Given the description of an element on the screen output the (x, y) to click on. 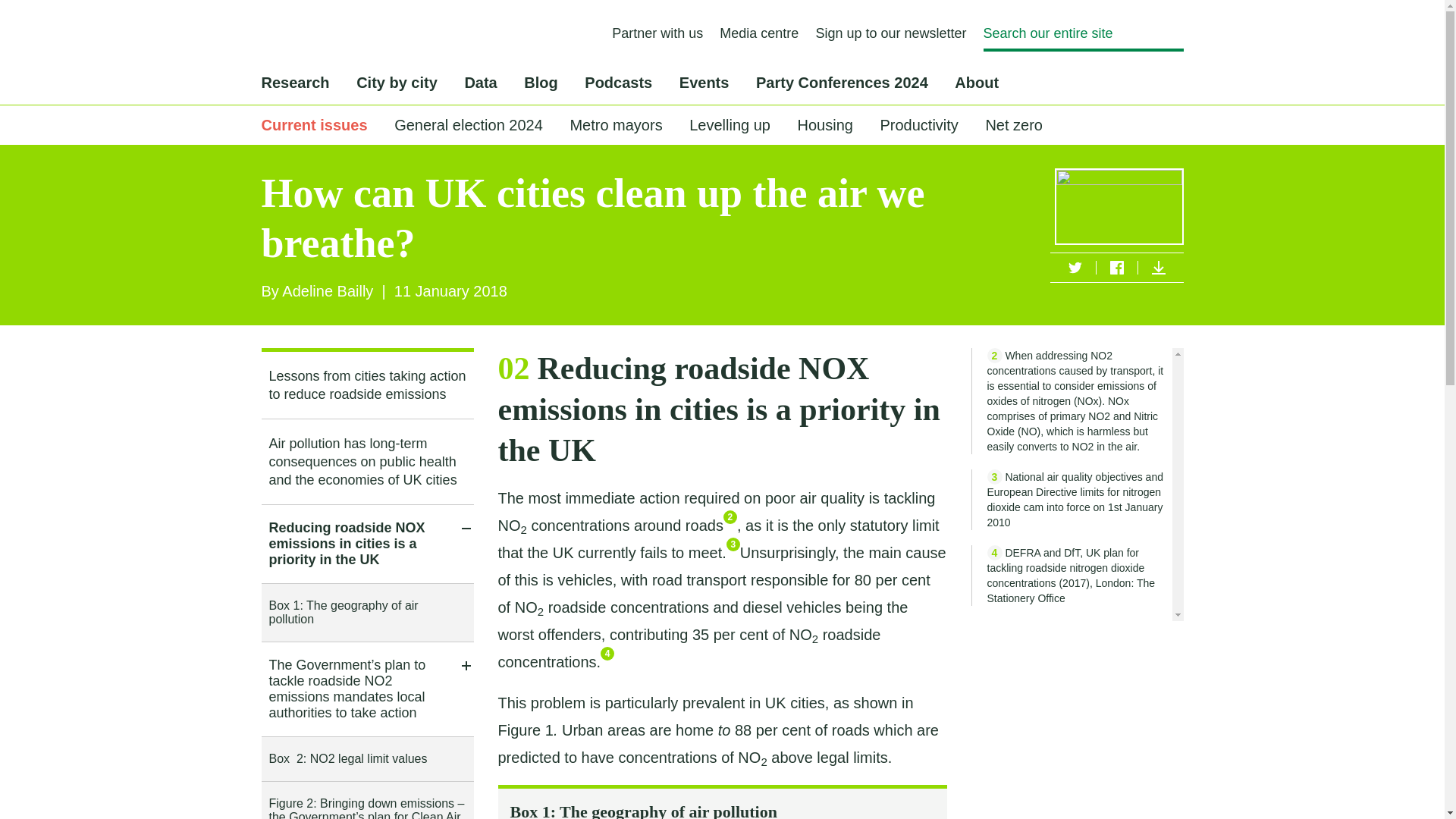
Events (704, 82)
Productivity (918, 124)
Levelling up (729, 124)
Metro mayors (615, 124)
Search all content (1174, 32)
Podcasts (618, 82)
Media centre (758, 32)
About (976, 82)
